Given the description of an element on the screen output the (x, y) to click on. 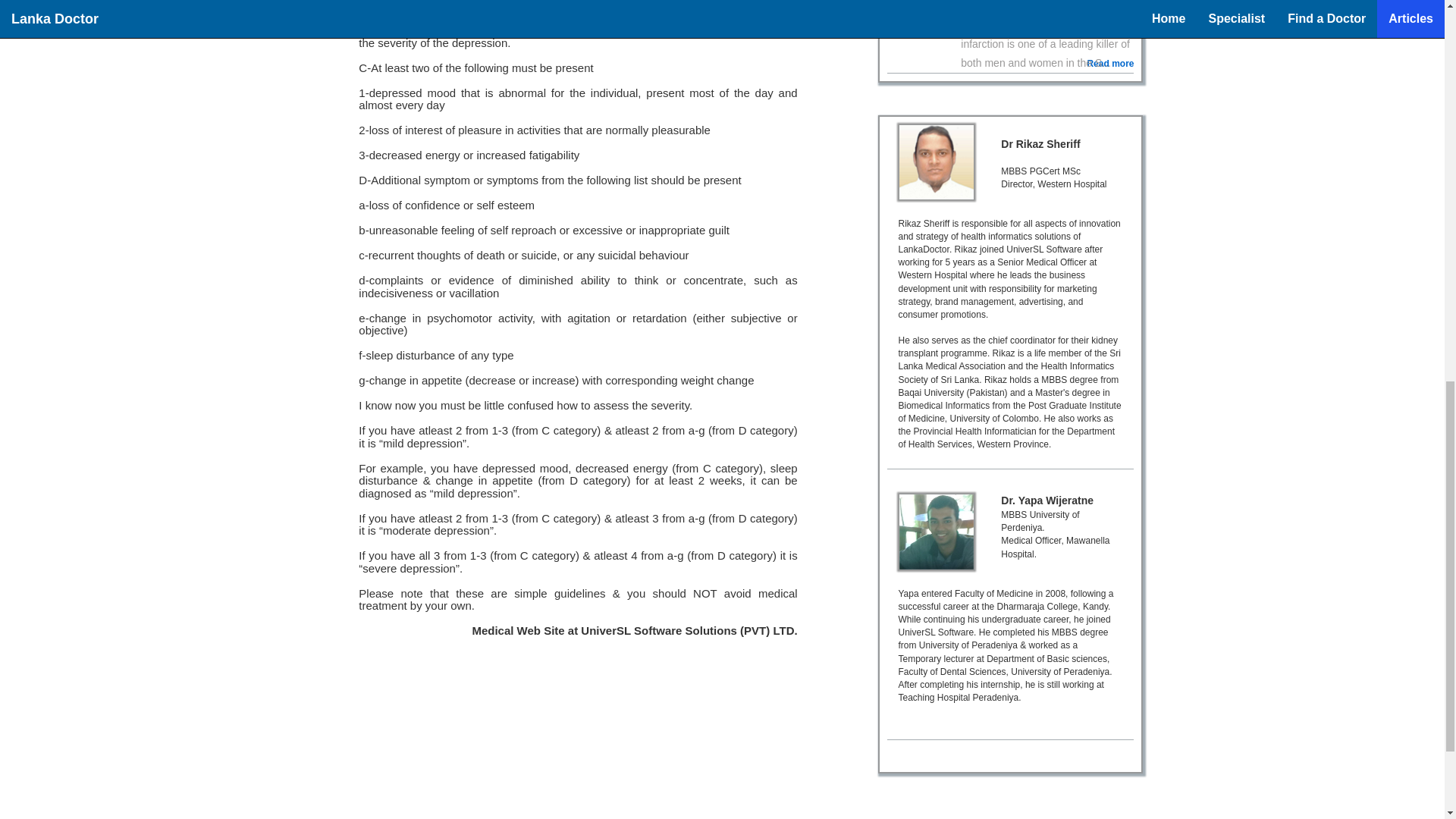
Read more (1110, 63)
When can I walk after a heart attack? (1035, 4)
